Given the description of an element on the screen output the (x, y) to click on. 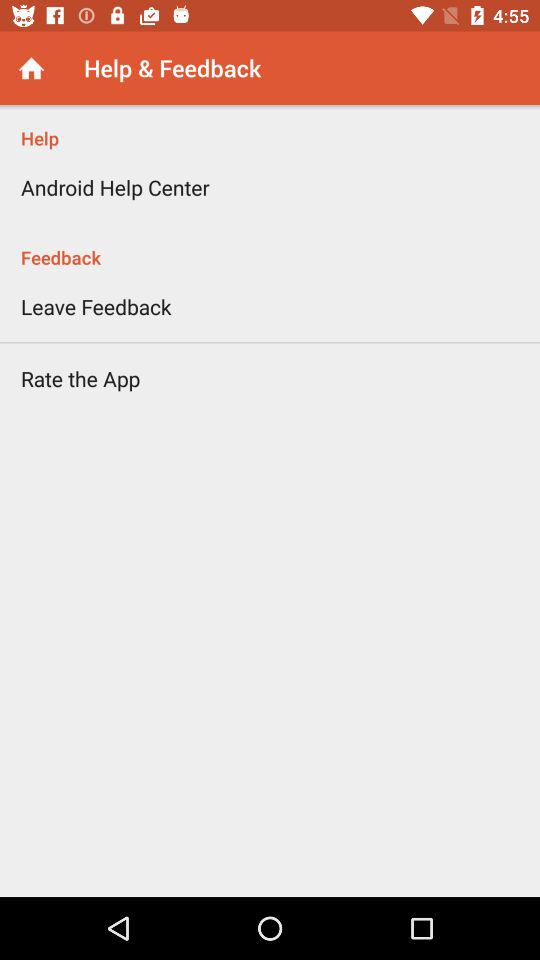
press the item to the left of the help & feedback icon (31, 68)
